Given the description of an element on the screen output the (x, y) to click on. 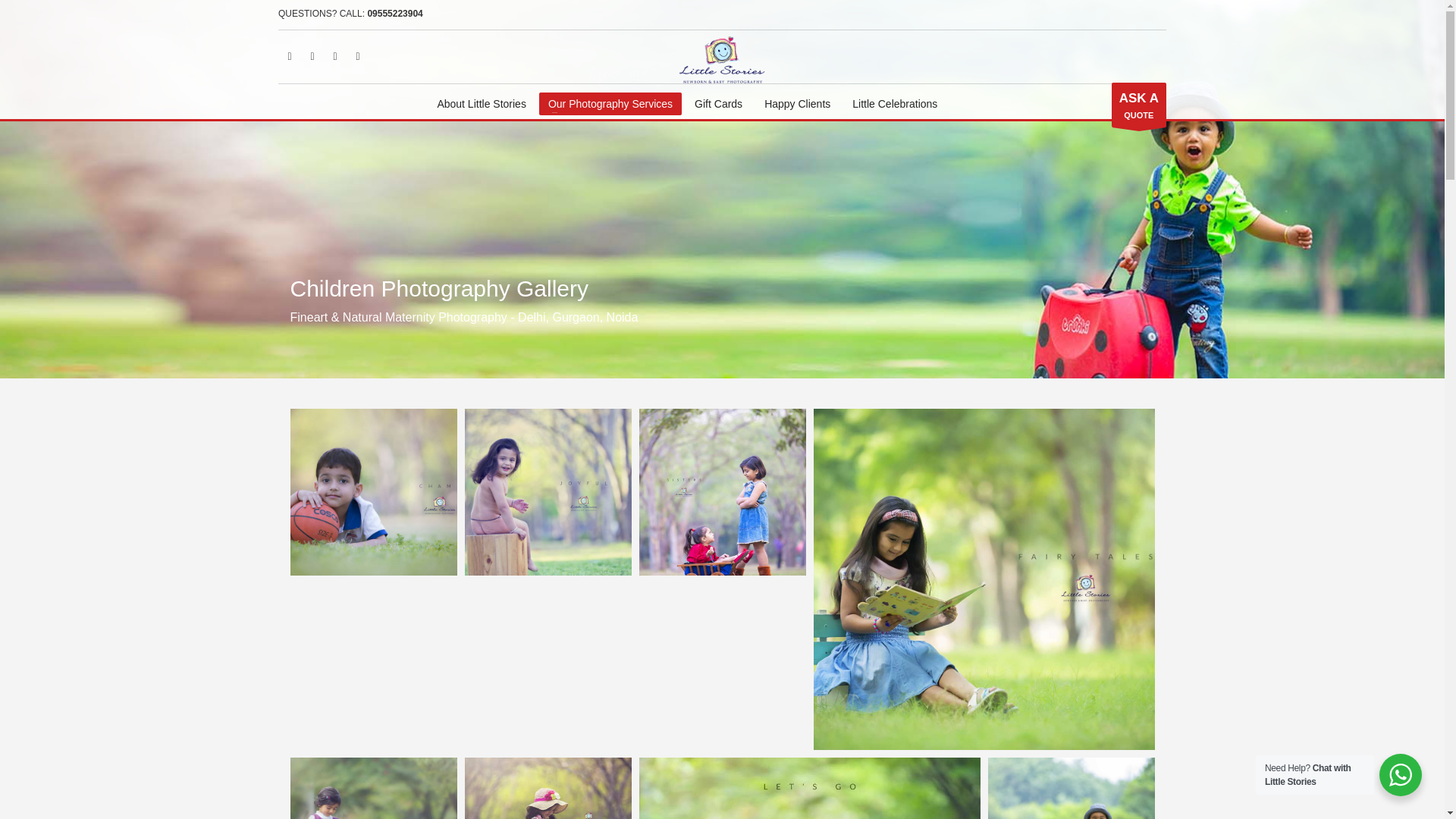
Little Celebrations (1139, 104)
Facebook (894, 103)
Google (289, 56)
Happy Clients (357, 56)
Children Photography by Little Stories (797, 103)
Children Photography by Little Stories (983, 578)
About Little Stories (721, 491)
Gift Cards (481, 103)
09555223904 (718, 103)
